Given the description of an element on the screen output the (x, y) to click on. 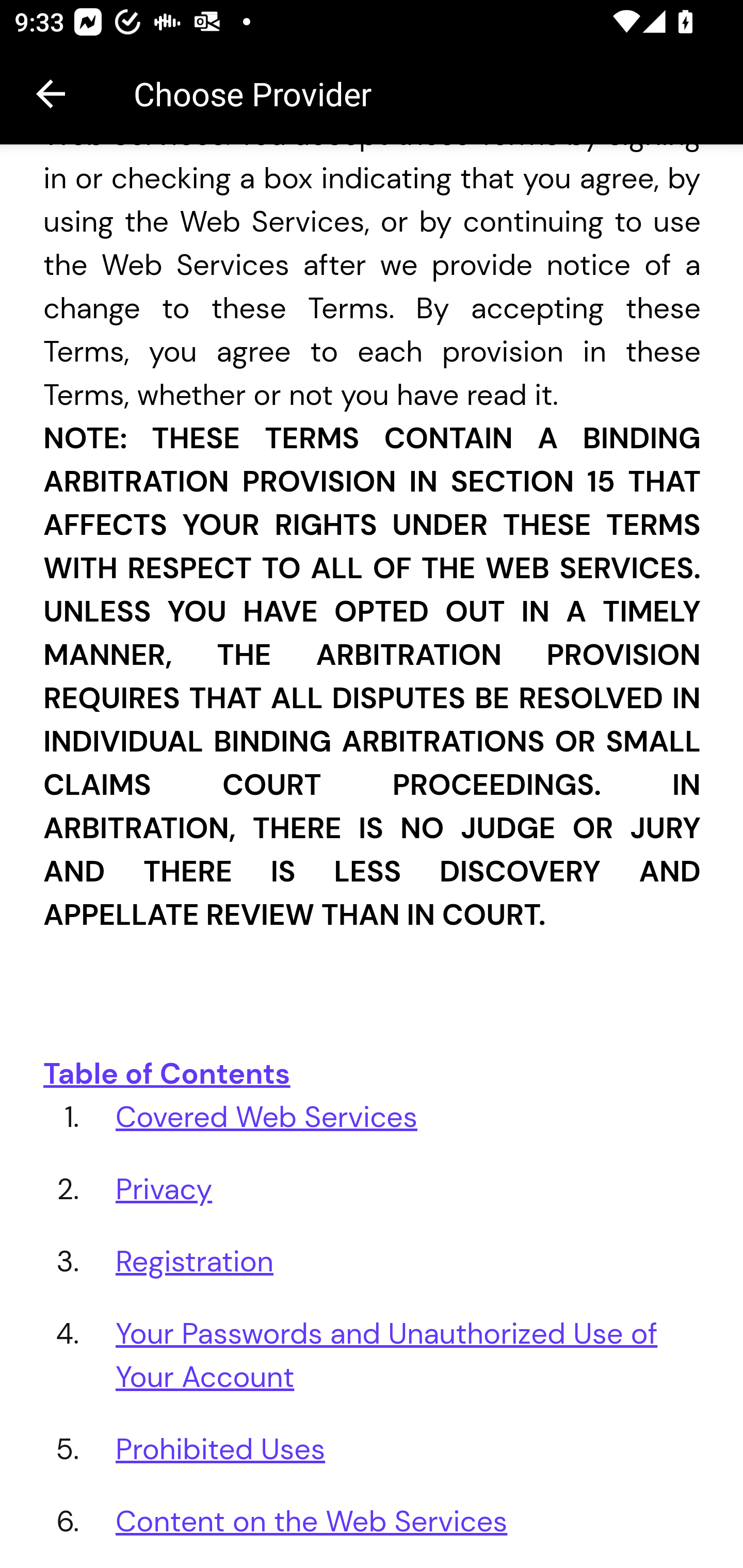
Navigate up (50, 93)
Covered Web Services (267, 1116)
Privacy (164, 1188)
Registration (194, 1261)
Prohibited Uses (220, 1449)
Content on the Web Services (311, 1521)
